Given the description of an element on the screen output the (x, y) to click on. 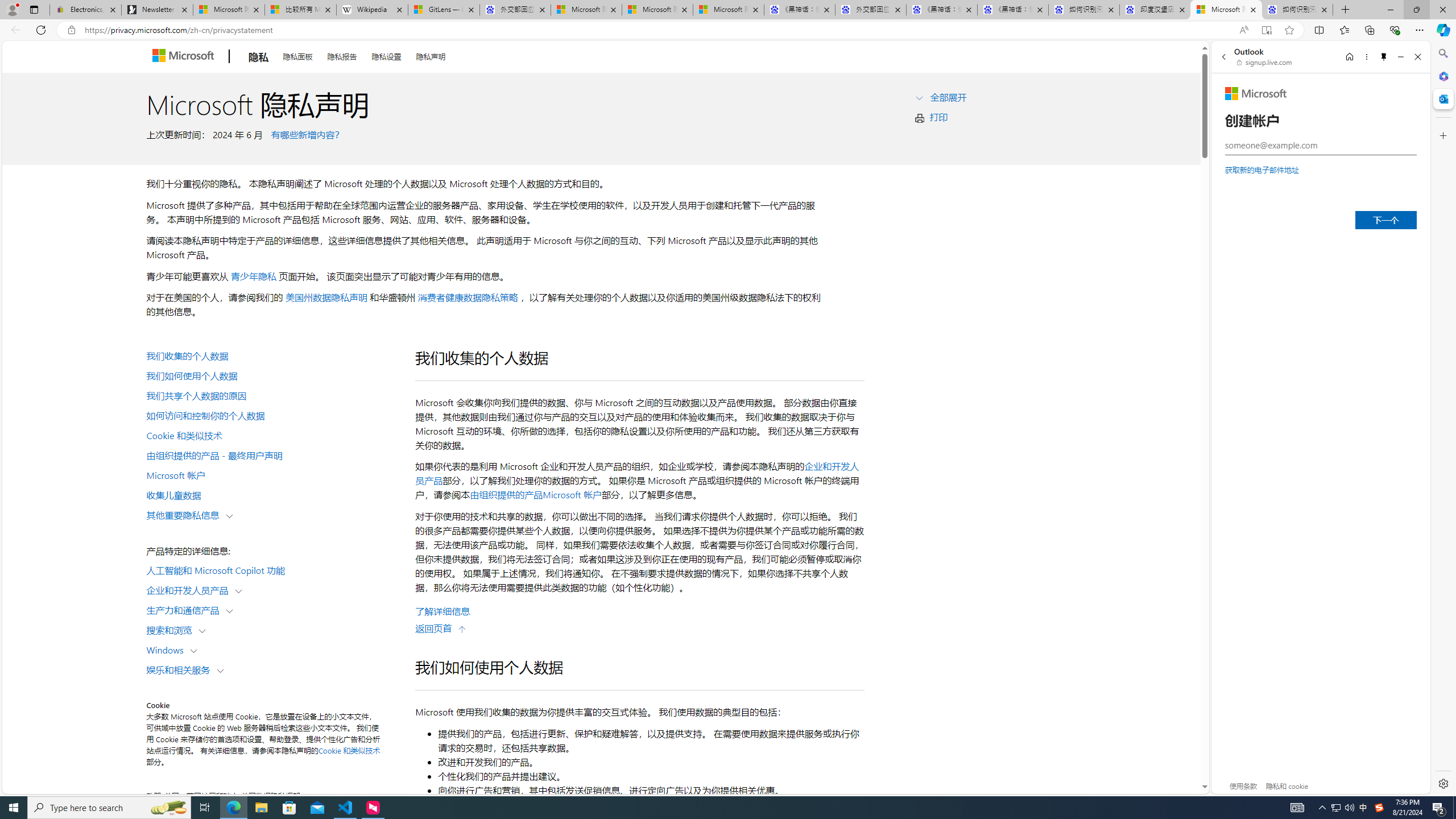
signup.live.com (1264, 61)
